Given the description of an element on the screen output the (x, y) to click on. 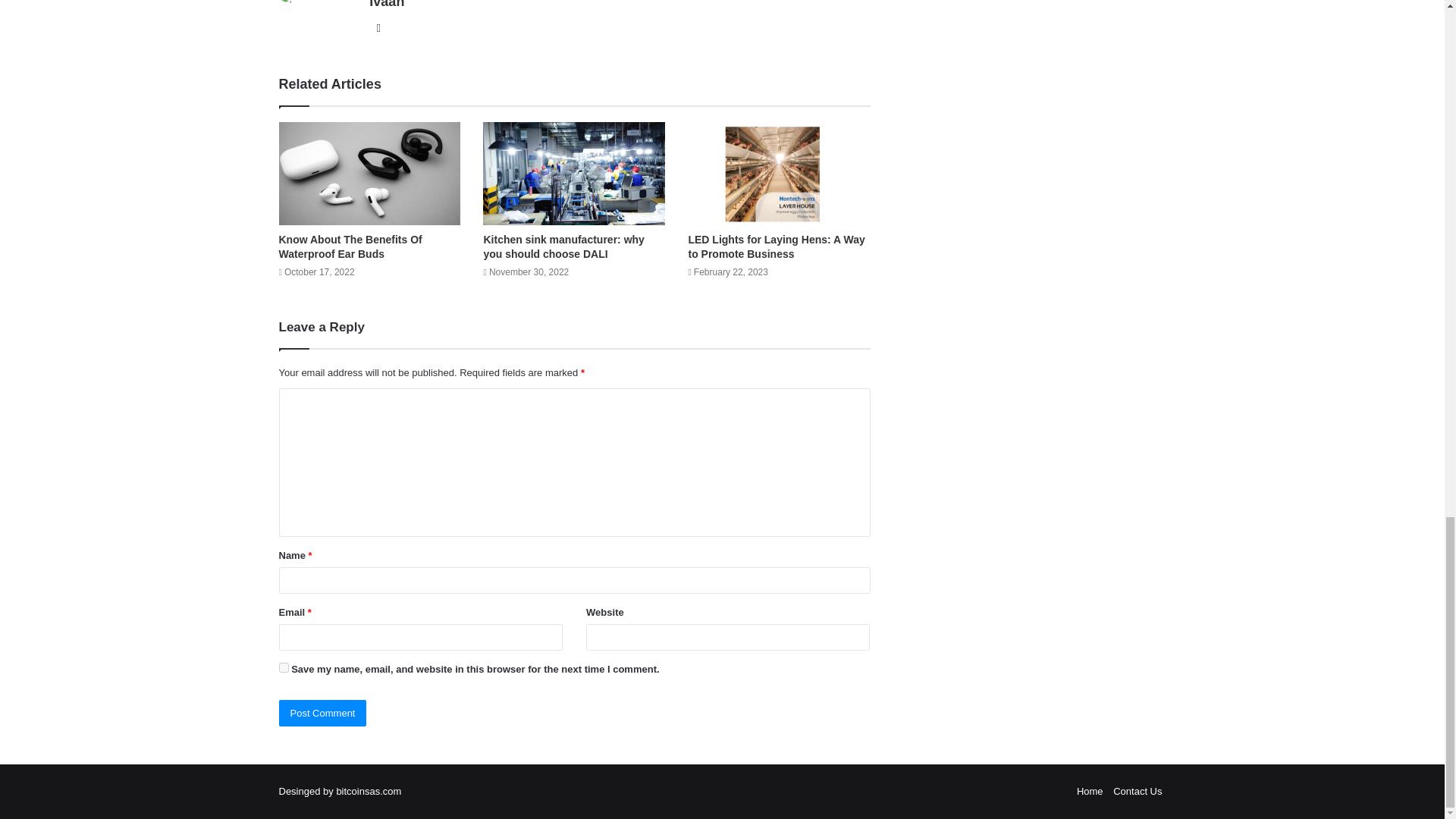
yes (283, 667)
LED Lights for Laying Hens: A Way to Promote Business (775, 246)
Website (378, 27)
Kitchen sink manufacturer: why you should choose DALI (563, 246)
Know About The Benefits Of Waterproof Ear Buds (350, 246)
Post Comment (322, 713)
Ivaan (386, 4)
